Given the description of an element on the screen output the (x, y) to click on. 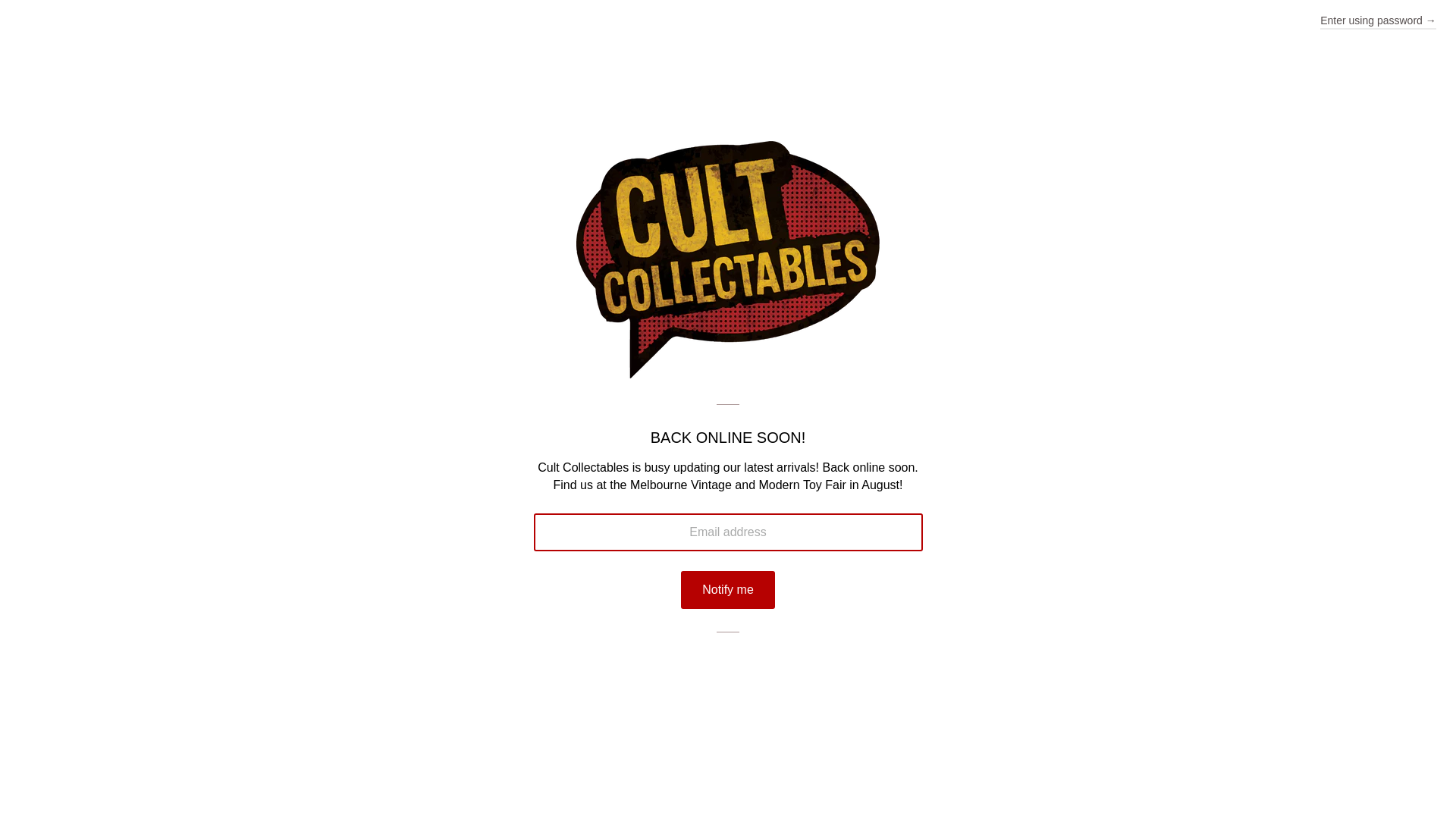
Notify me Element type: text (727, 589)
Cult Collectables Element type: hover (727, 373)
